Given the description of an element on the screen output the (x, y) to click on. 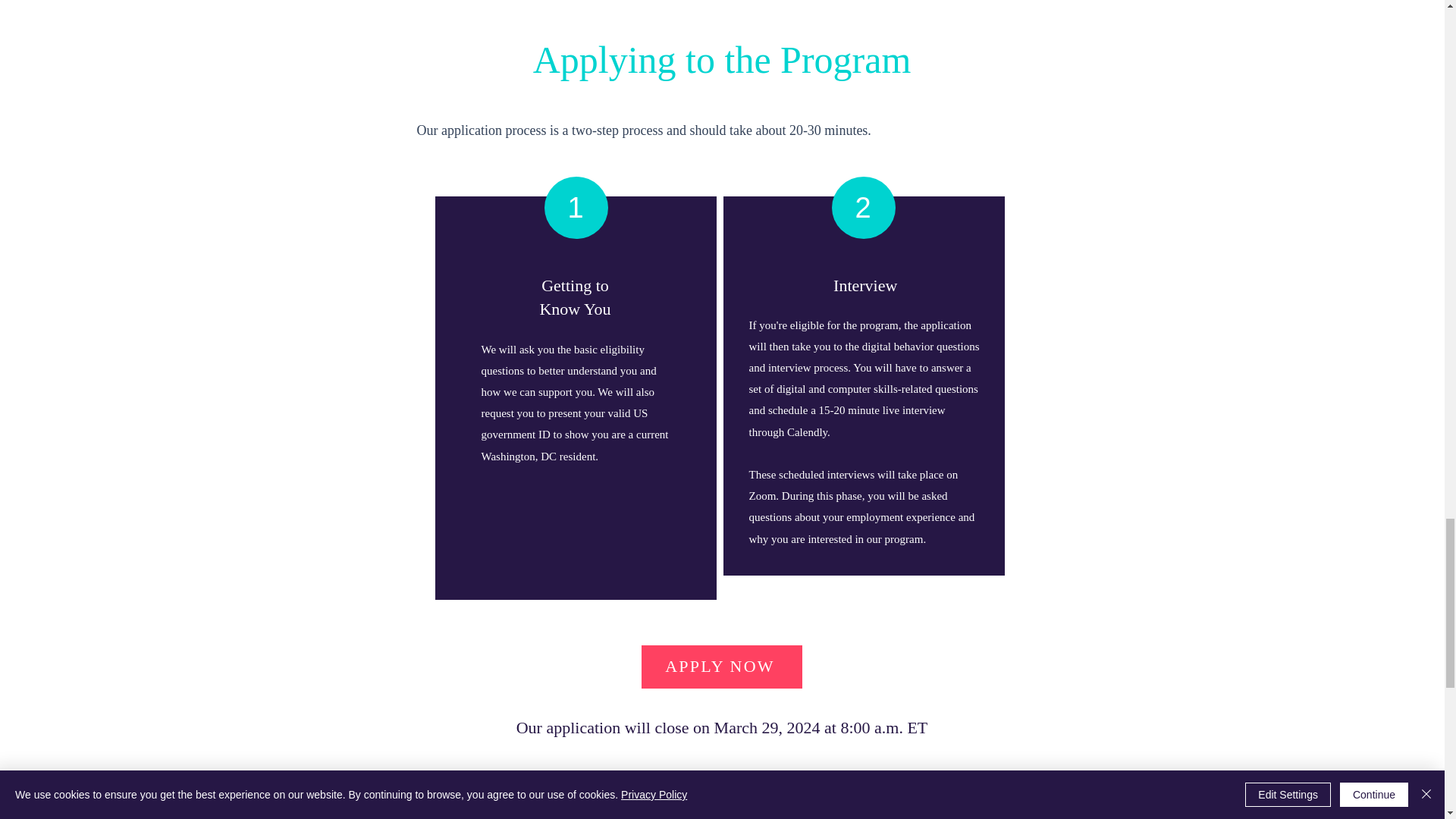
APPLY NOW (722, 666)
